Given the description of an element on the screen output the (x, y) to click on. 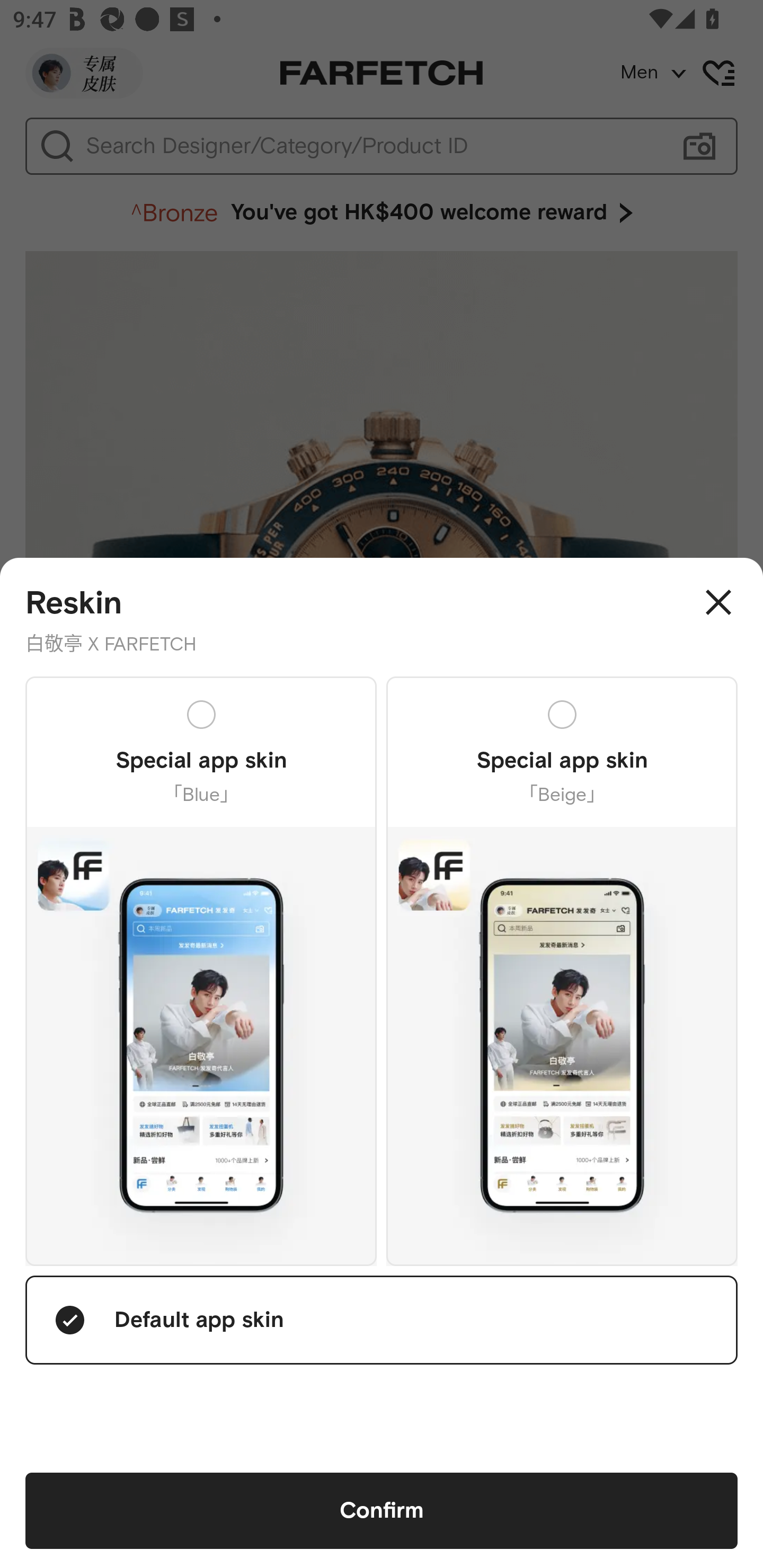
Special app skin 「Blue」 (200, 970)
Special app skin 「Beige」 (561, 970)
Default app skin (381, 1320)
Confirm (381, 1510)
